Given the description of an element on the screen output the (x, y) to click on. 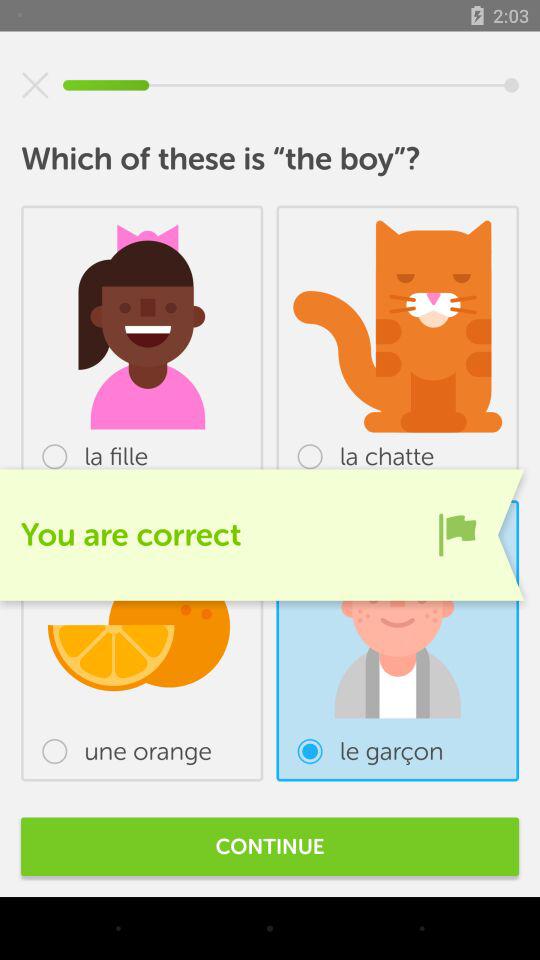
turn off the item below the la chatte (457, 534)
